Given the description of an element on the screen output the (x, y) to click on. 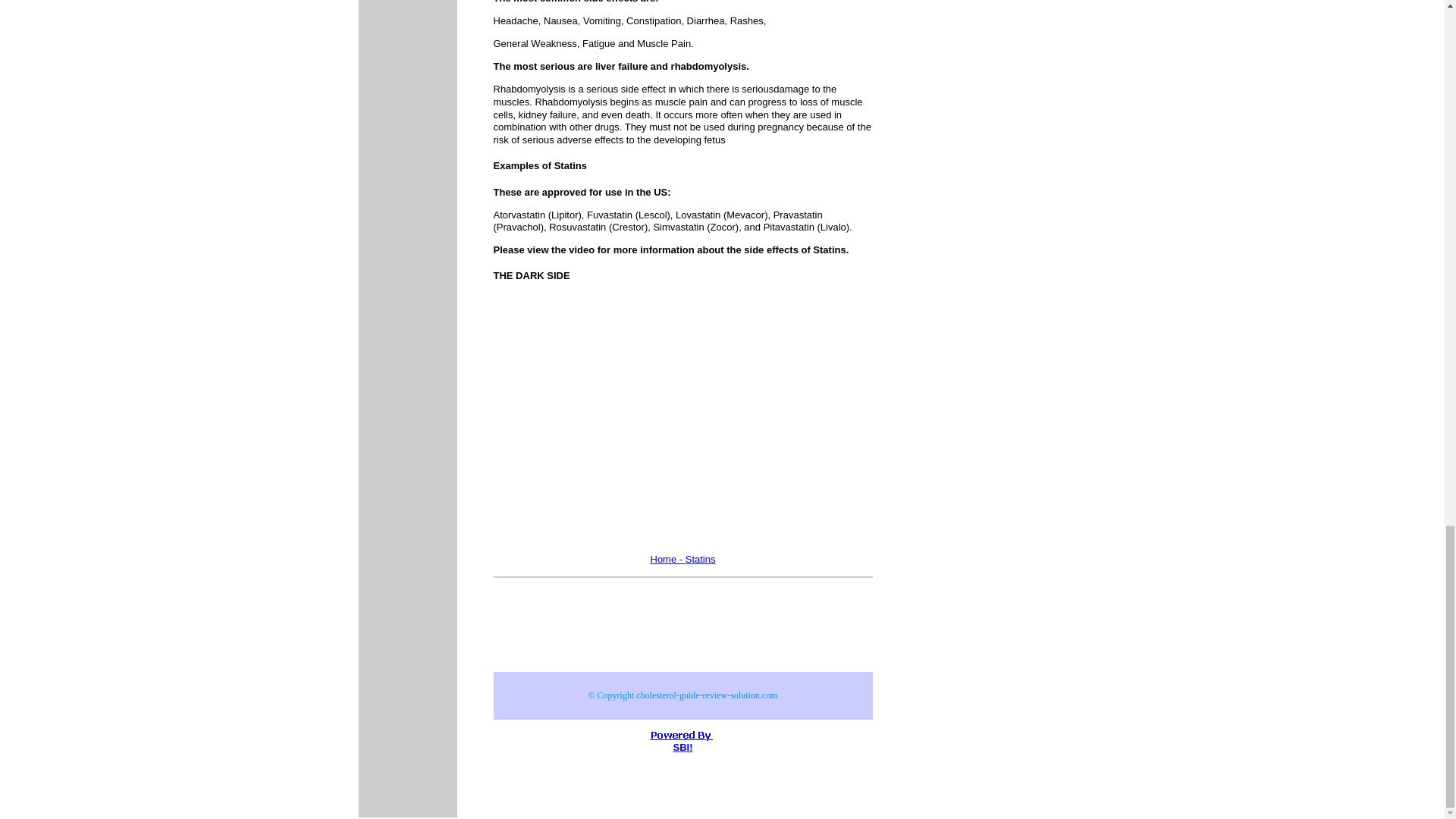
SBI! (682, 747)
Home - Statins (683, 559)
